Given the description of an element on the screen output the (x, y) to click on. 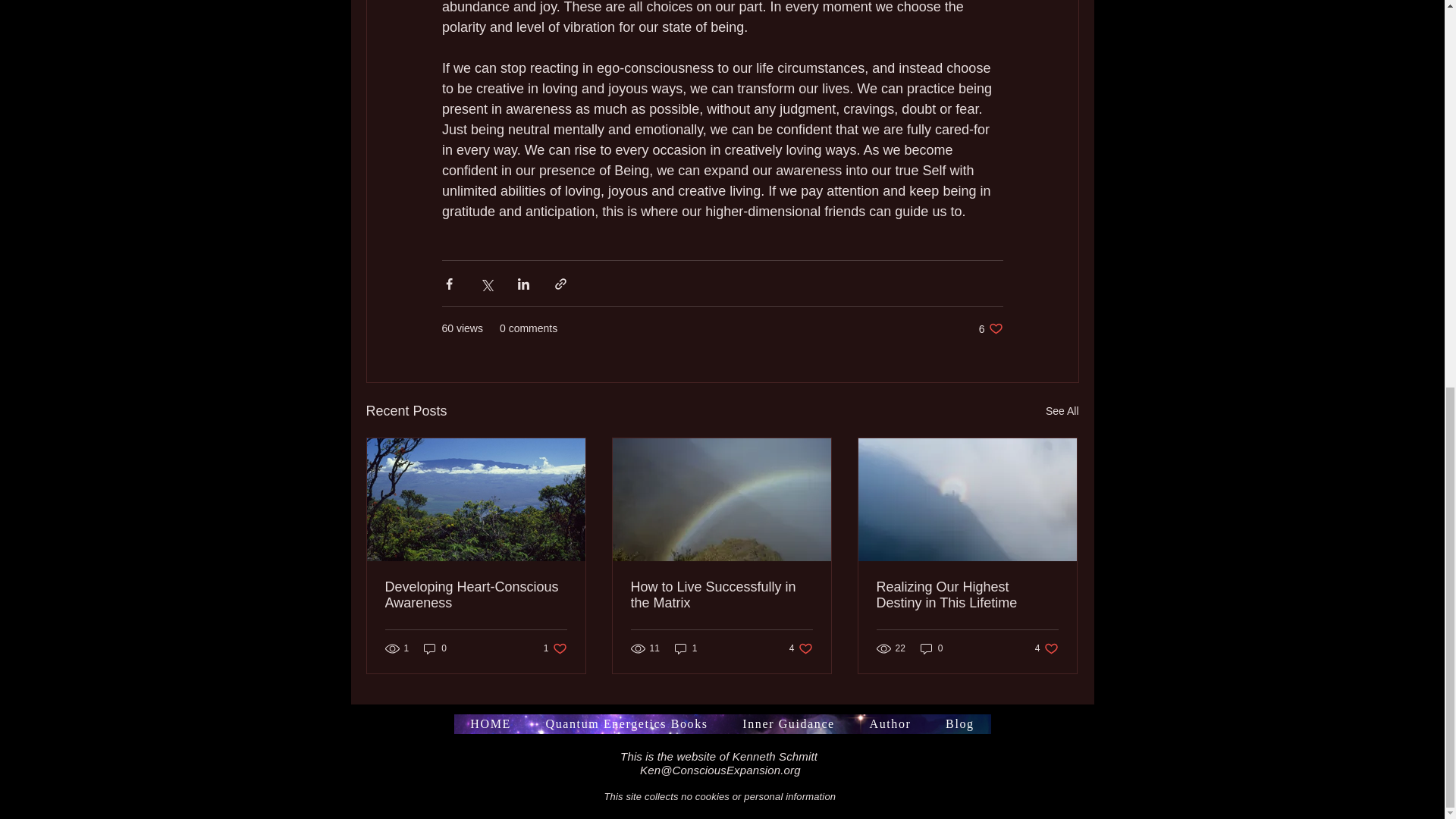
Realizing Our Highest Destiny in This Lifetime (967, 594)
0 (931, 648)
1 (685, 648)
HOME (555, 648)
0 (489, 723)
Inner Guidance (435, 648)
How to Live Successfully in the Matrix (990, 328)
